Given the description of an element on the screen output the (x, y) to click on. 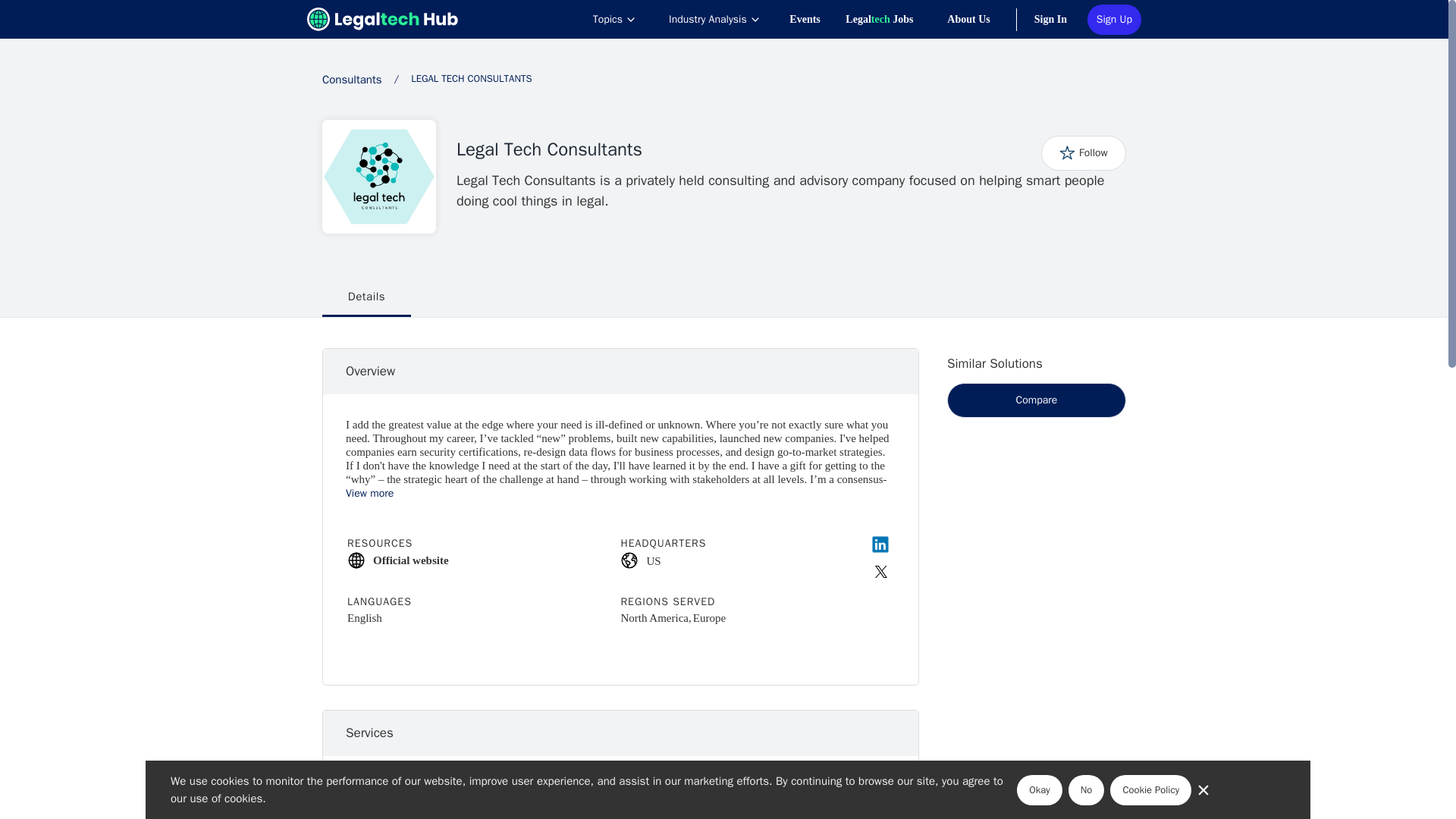
Details (365, 297)
Events (816, 19)
About Us (979, 19)
Legaltech Jobs (894, 19)
Consultants (351, 79)
Topics (614, 19)
Okay (1039, 789)
Follow (1083, 152)
Official website (483, 559)
Cookie Policy (1149, 789)
Sign In (1060, 19)
Cookie Policy (1150, 789)
Industry Analysis (714, 19)
Sign Up (1114, 19)
No (1086, 789)
